Given the description of an element on the screen output the (x, y) to click on. 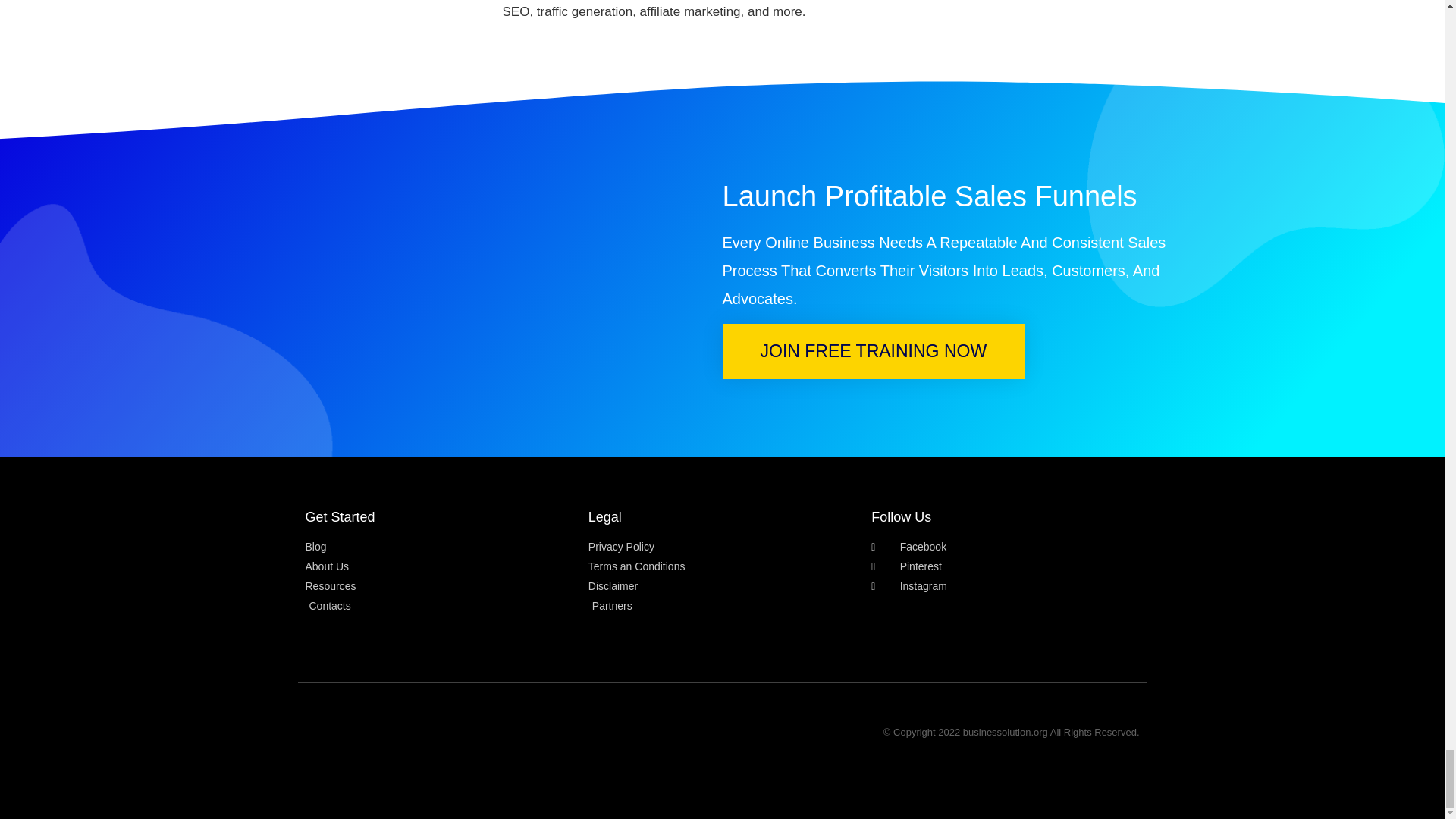
Terms an Conditions (722, 566)
Blog (438, 546)
About Us (438, 566)
Privacy Policy (722, 546)
Disclaimer (722, 586)
Contacts (438, 606)
JOIN FREE TRAINING NOW (873, 351)
Resources (438, 586)
